Given the description of an element on the screen output the (x, y) to click on. 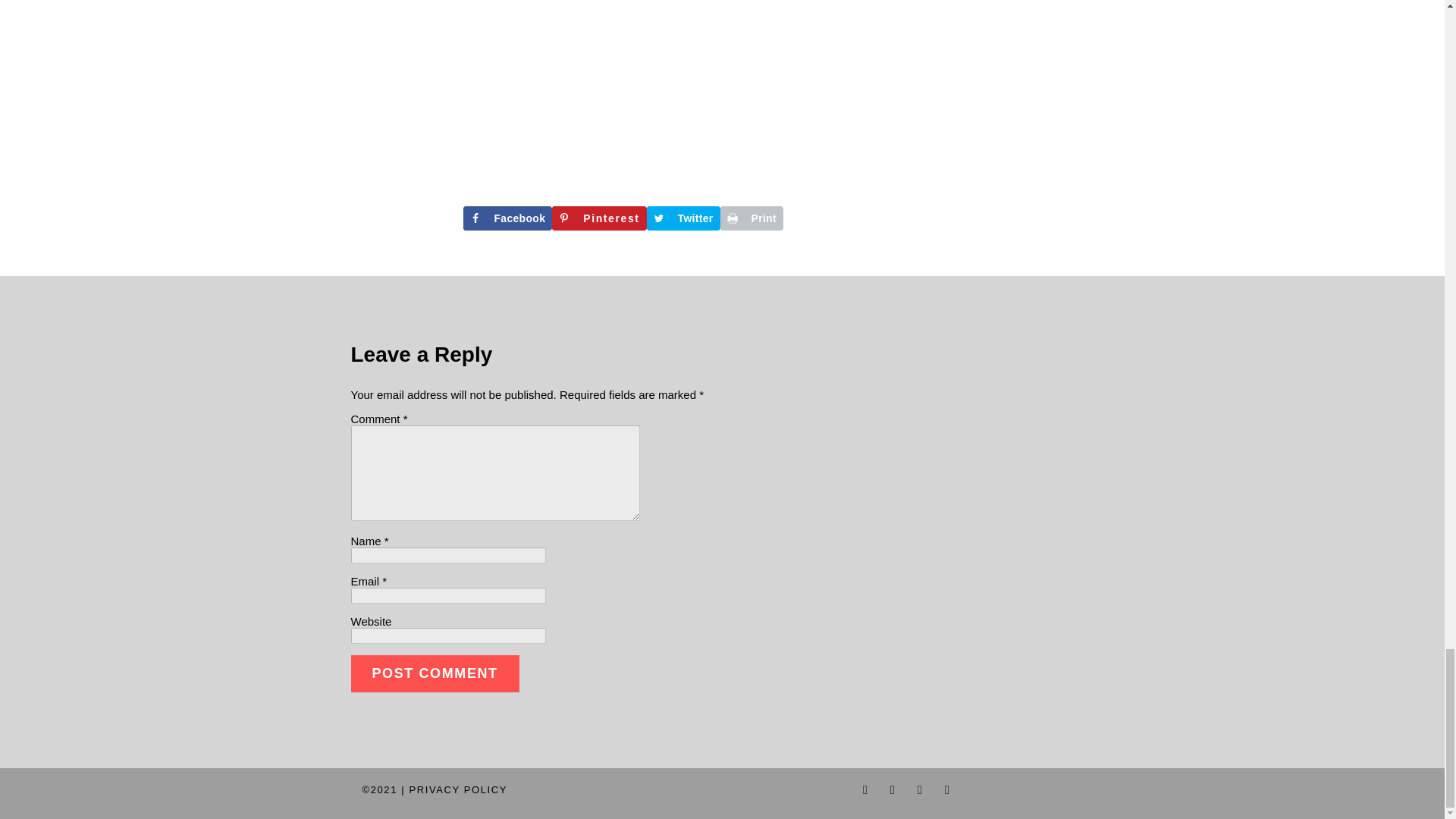
Facebook (507, 218)
Post Comment (434, 673)
Print this webpage (751, 218)
Save to Pinterest (598, 218)
Share on Facebook (507, 218)
Pinterest (598, 218)
Share on Twitter (683, 218)
